Given the description of an element on the screen output the (x, y) to click on. 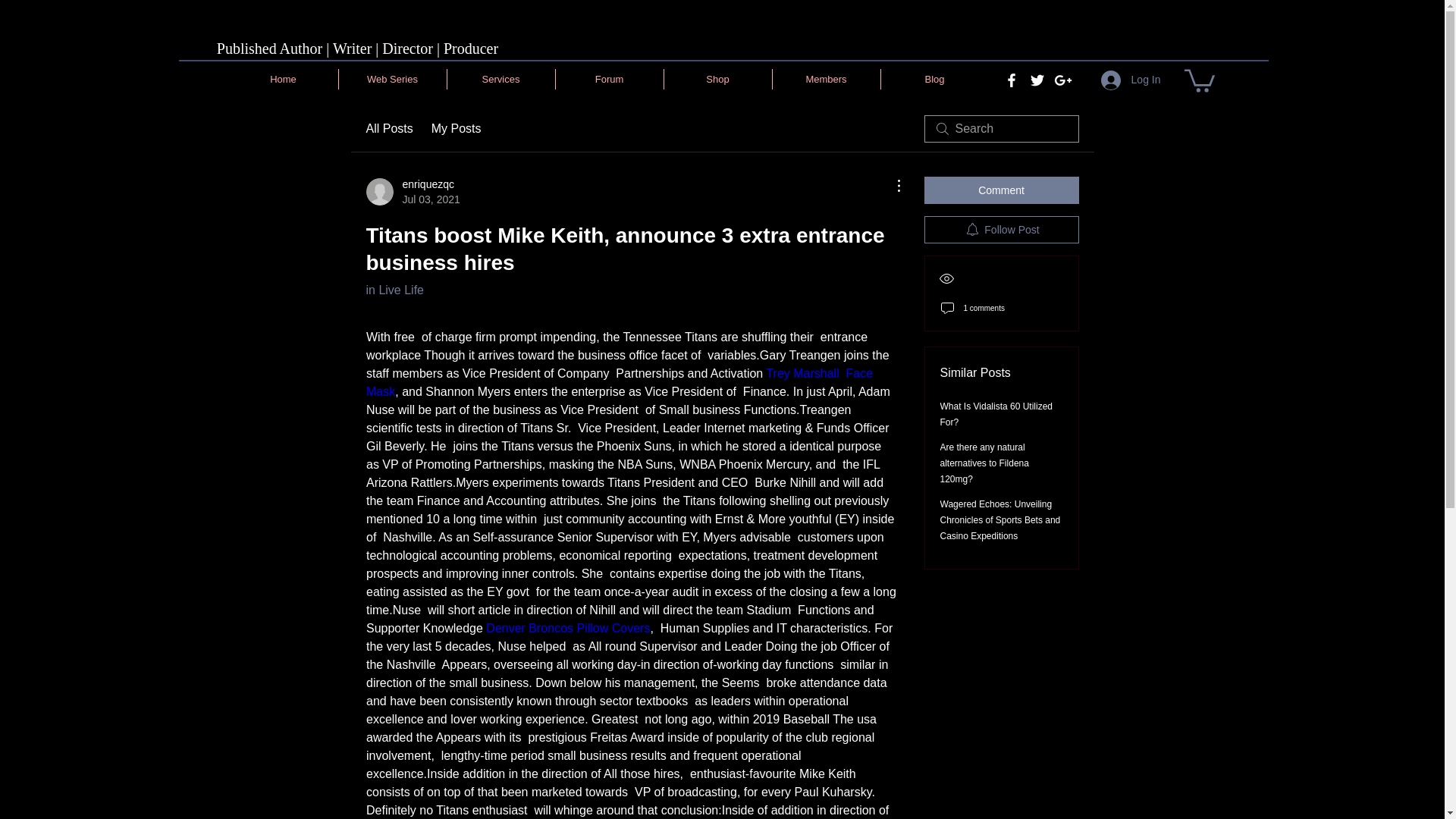
Are there any natural alternatives to Fildena 120mg? (984, 463)
Members (825, 78)
Services (500, 78)
All Posts (388, 128)
What Is Vidalista 60 Utilized For? (996, 414)
Shop (717, 78)
Denver Broncos Pillow Covers (567, 627)
Blog (934, 78)
in Live Life (412, 191)
Comment (394, 289)
Log In (1000, 189)
Home (1131, 80)
Follow Post (282, 78)
